Given the description of an element on the screen output the (x, y) to click on. 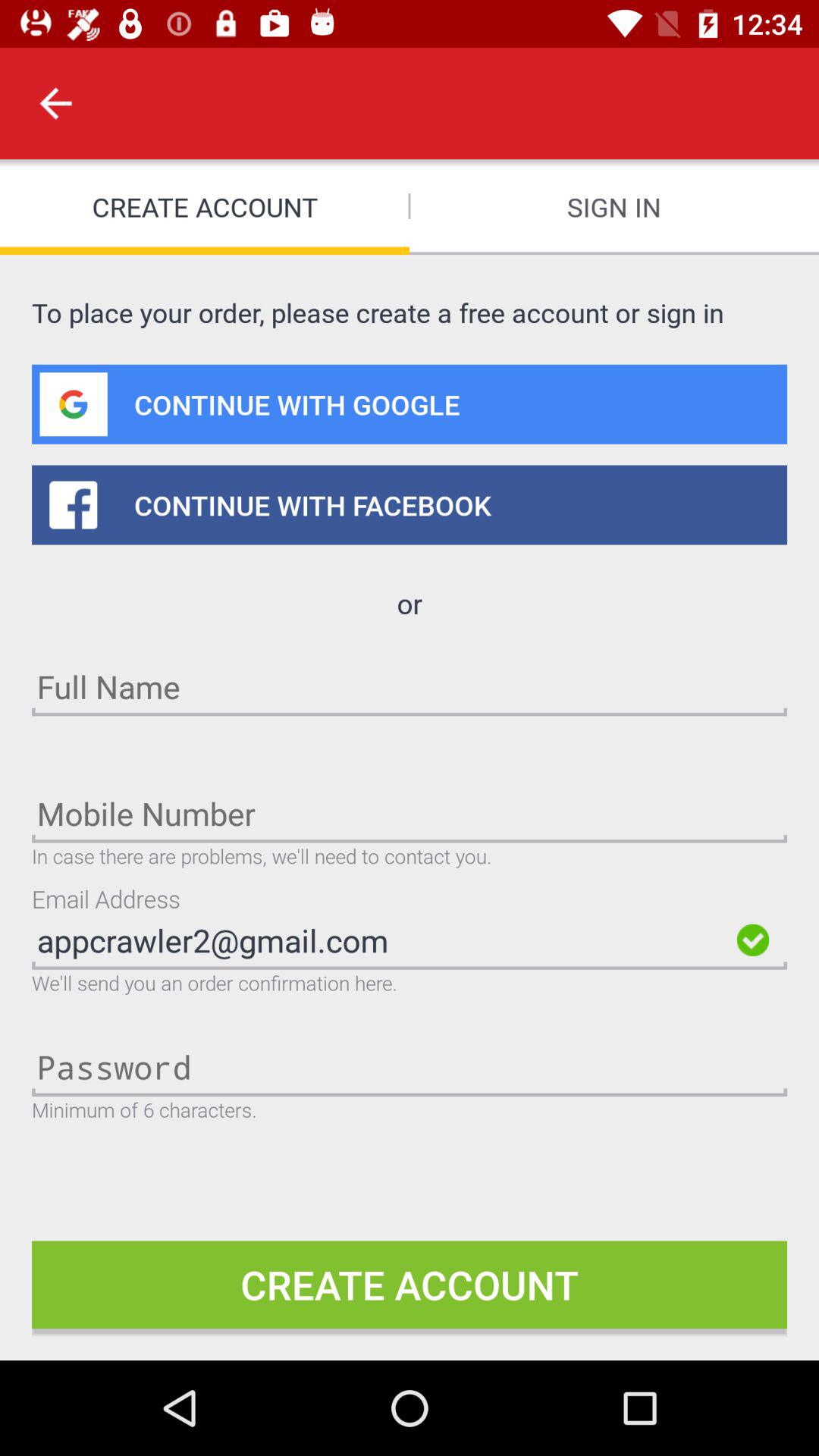
tap the appcrawler2@gmail.com item (380, 939)
